Given the description of an element on the screen output the (x, y) to click on. 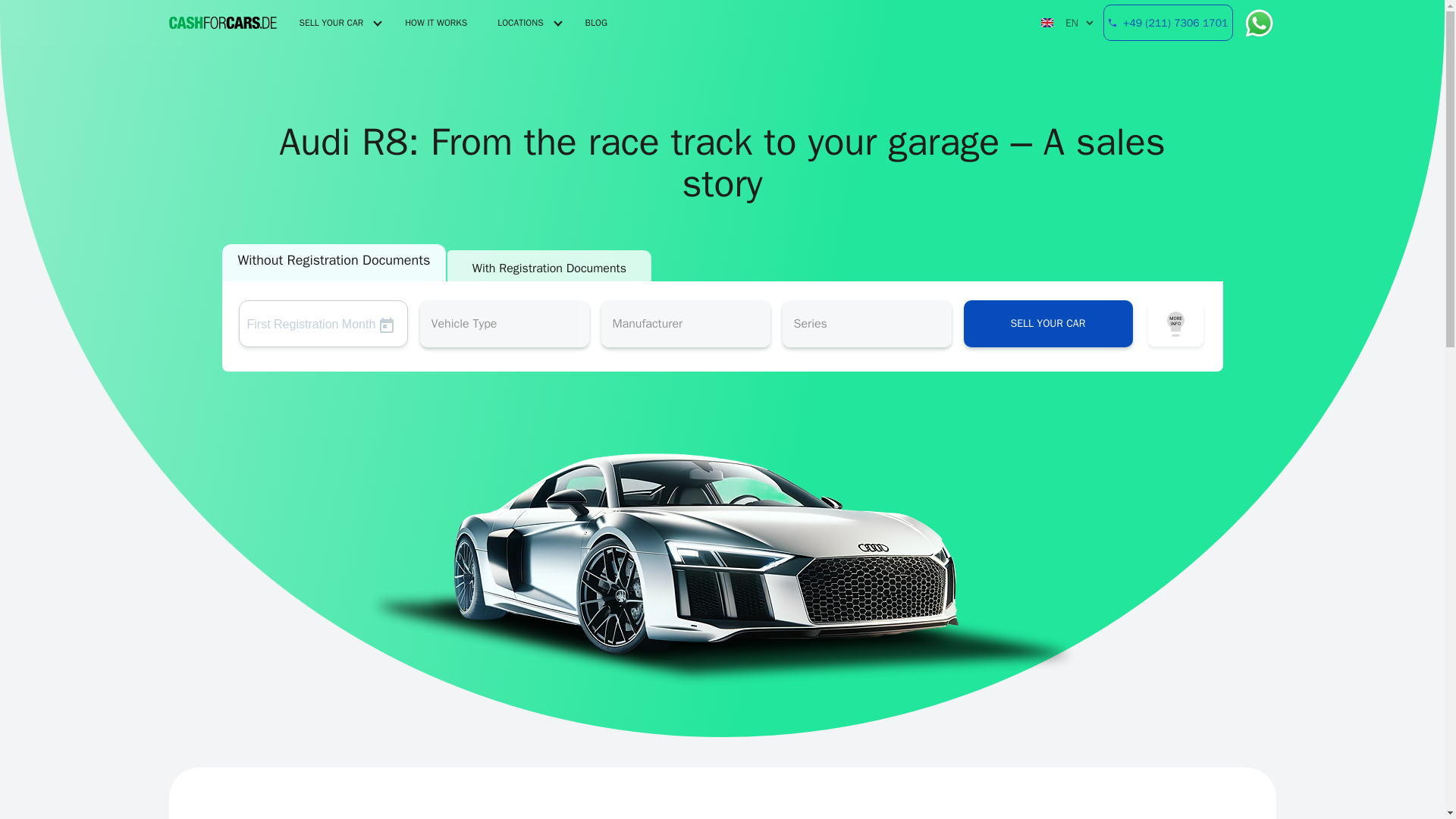
SELL YOUR CAR (330, 23)
WhatsApp (1254, 22)
LOCATIONS (520, 23)
English (1046, 22)
Home (222, 22)
BLOG (596, 23)
HOW IT WORKS (435, 23)
